Given the description of an element on the screen output the (x, y) to click on. 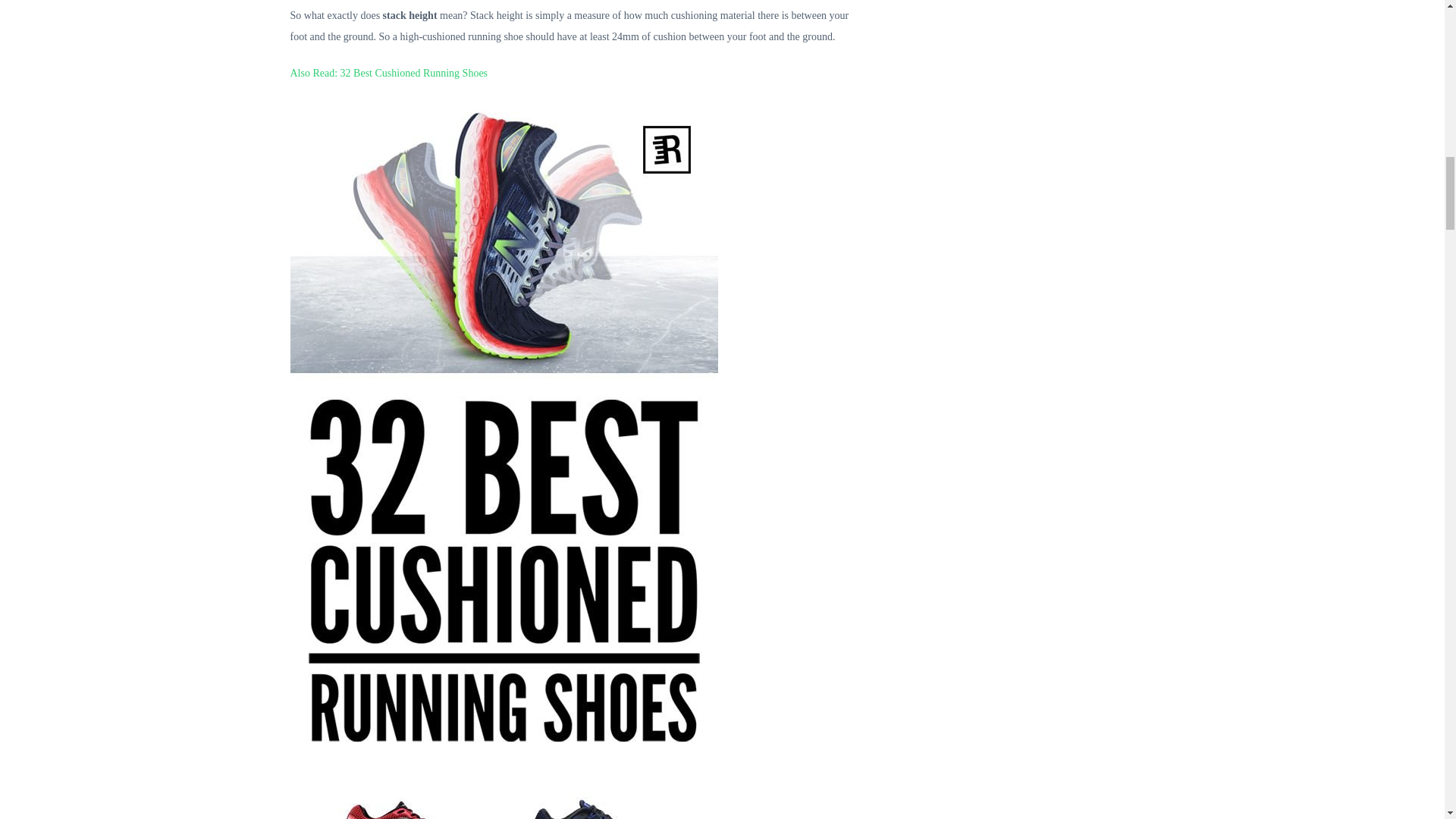
Also Read: 32 Best Cushioned Running Shoes (388, 72)
